Given the description of an element on the screen output the (x, y) to click on. 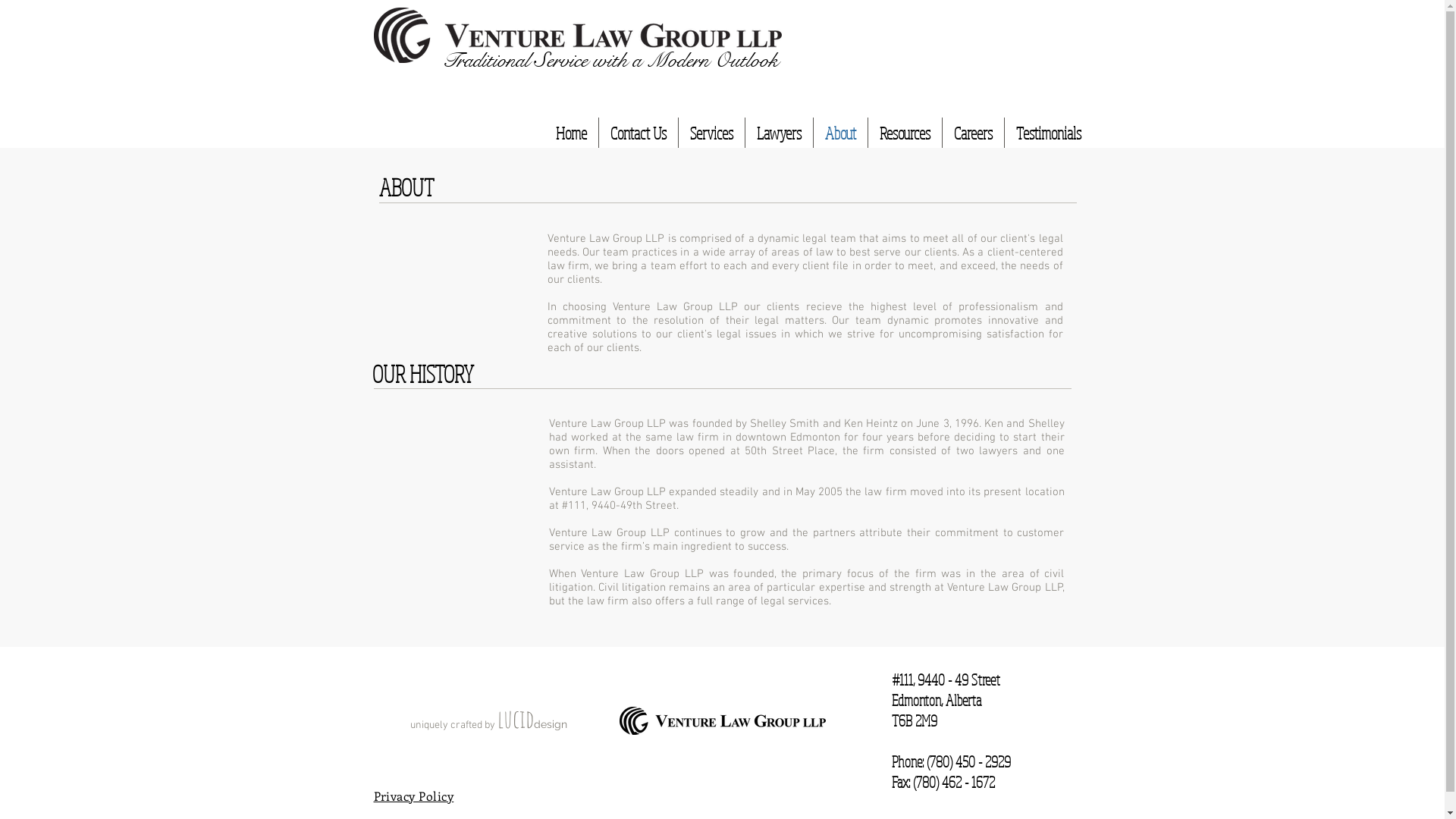
Resources Element type: text (904, 132)
Lawyers Element type: text (778, 132)
Careers Element type: text (972, 132)
Contact Us Element type: text (638, 132)
Privacy Policy Element type: text (413, 795)
About Element type: text (839, 132)
Home Element type: text (571, 132)
Testimonials Element type: text (1048, 132)
Traditional Service with a Modern Outlook Element type: text (609, 57)
VentureLawLLPLogo.png Element type: hover (577, 34)
Services Element type: text (710, 132)
